Given the description of an element on the screen output the (x, y) to click on. 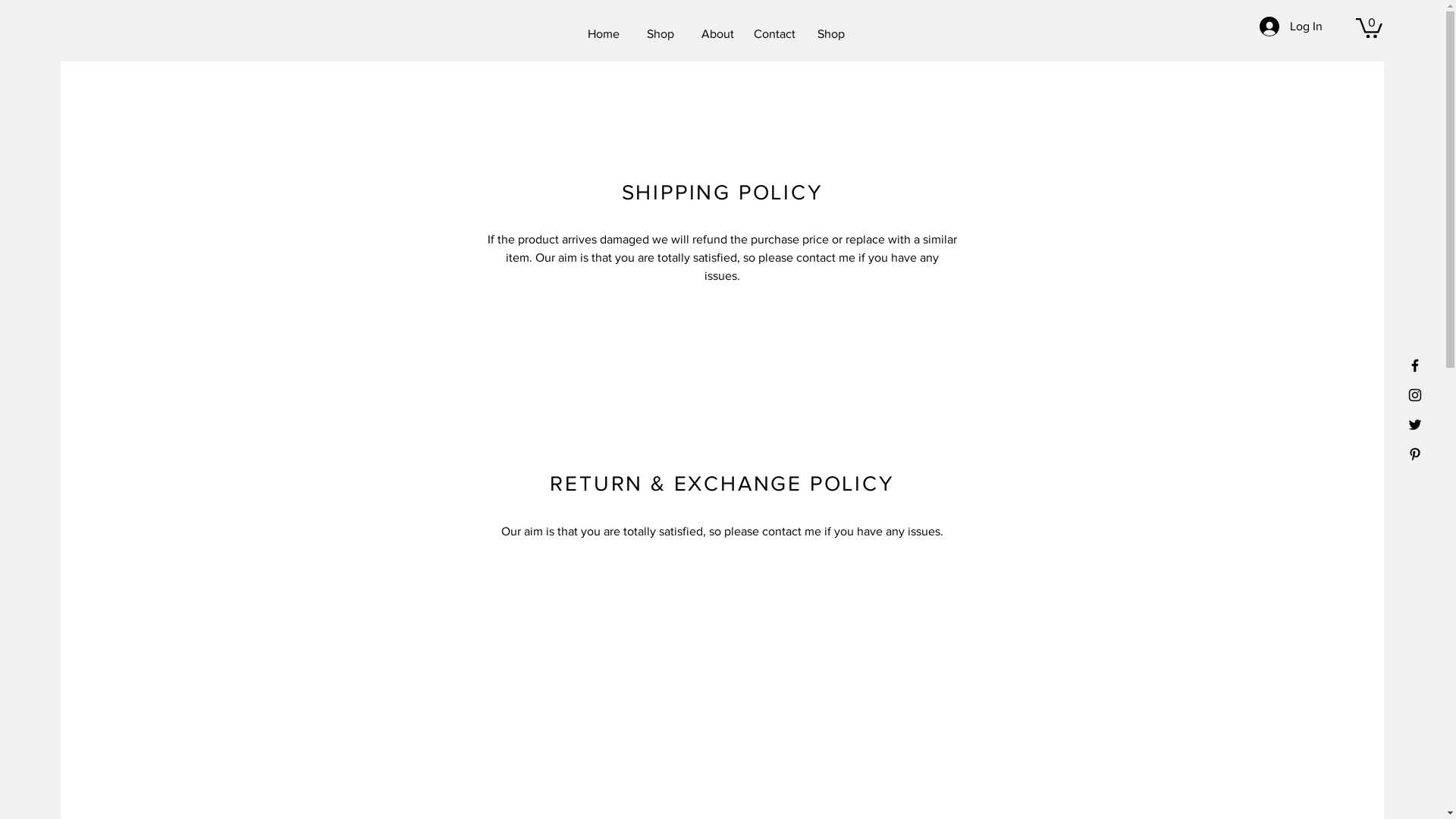
Contact Element type: text (774, 34)
Home Element type: text (602, 34)
0 Element type: text (1368, 26)
Log In Element type: text (1290, 26)
Shop Element type: text (830, 34)
Shop Element type: text (660, 34)
About Element type: text (716, 34)
